Given the description of an element on the screen output the (x, y) to click on. 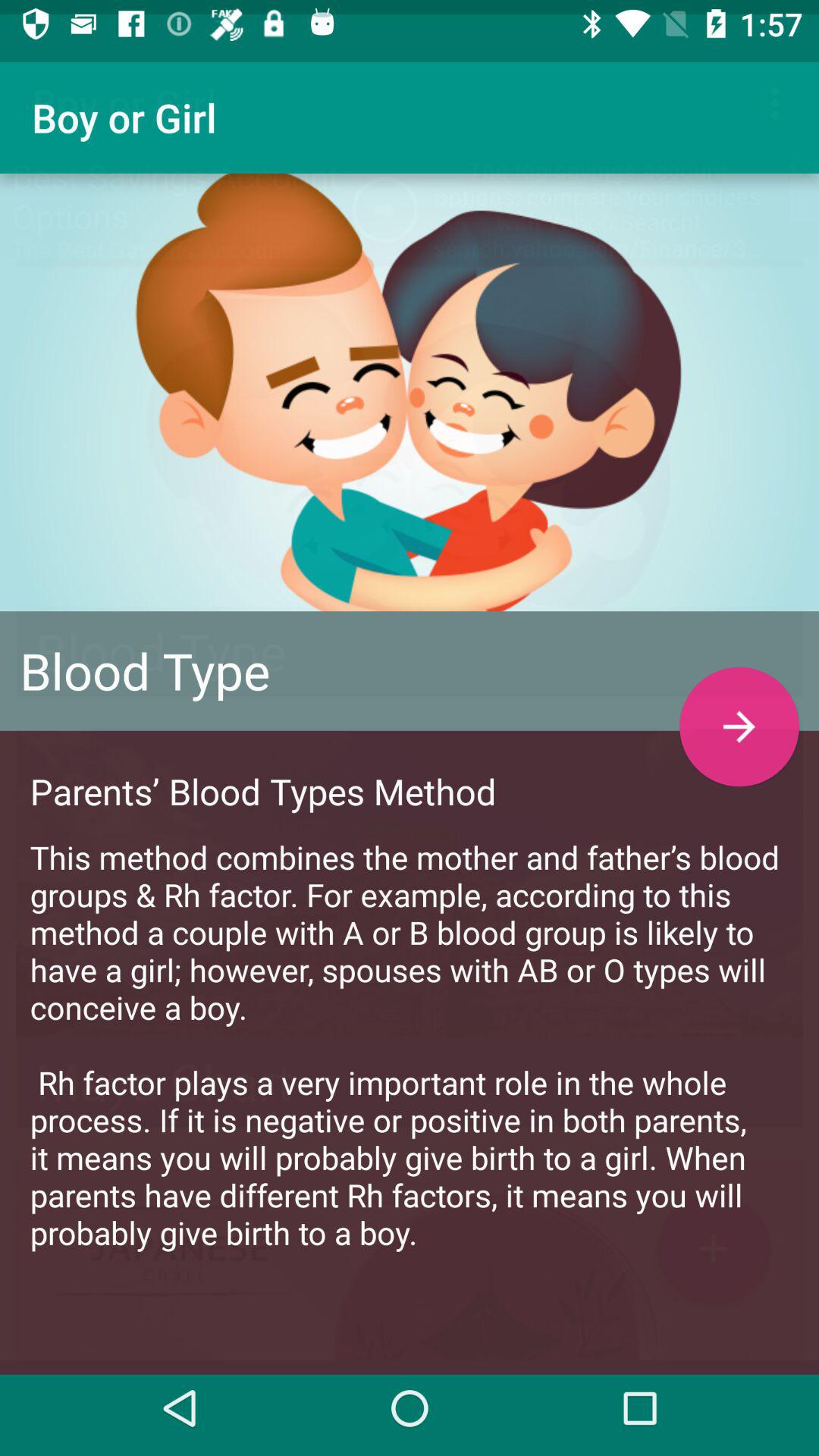
jump to the this method combines (409, 1030)
